Given the description of an element on the screen output the (x, y) to click on. 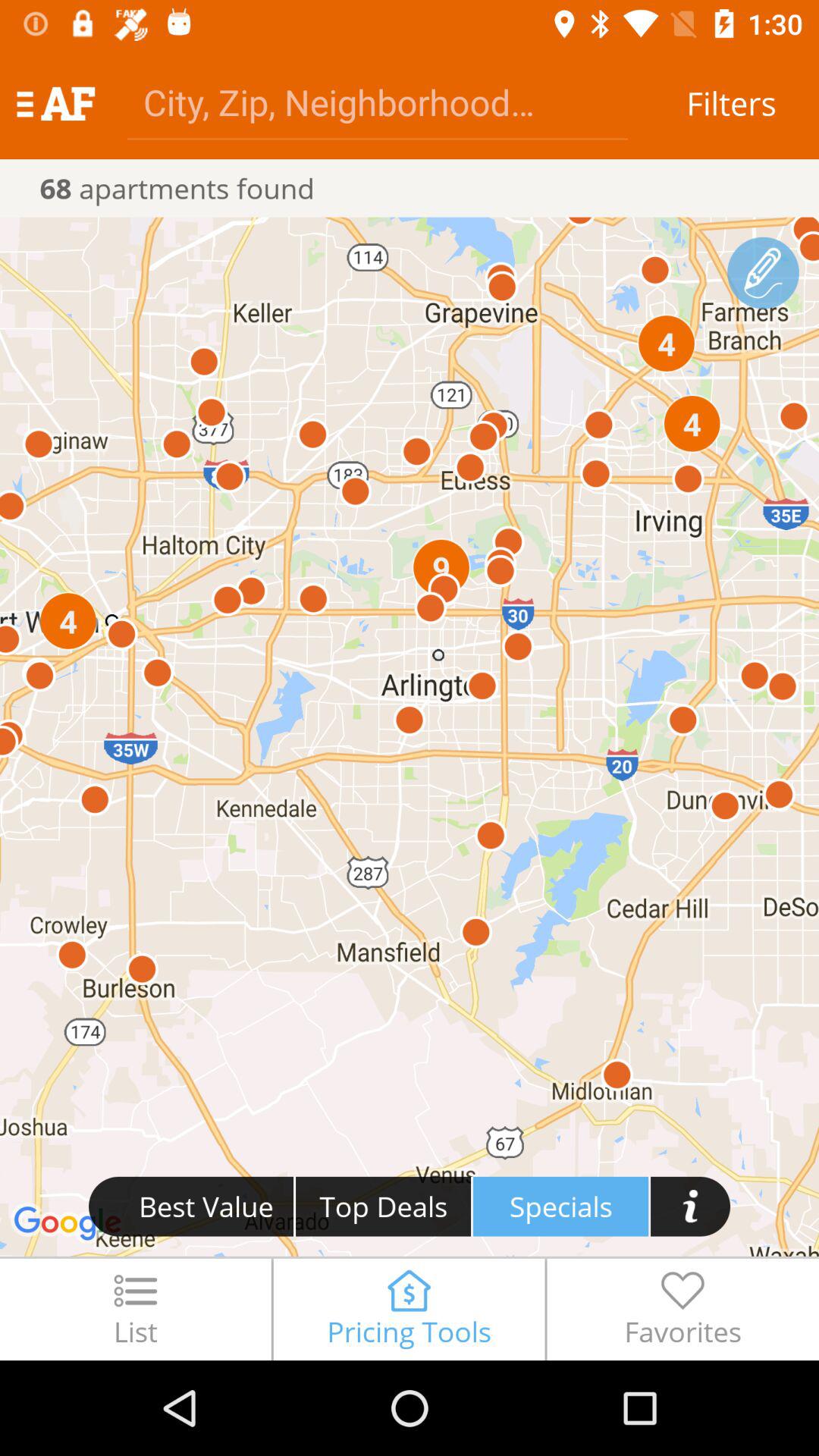
swipe until the filters (731, 103)
